Given the description of an element on the screen output the (x, y) to click on. 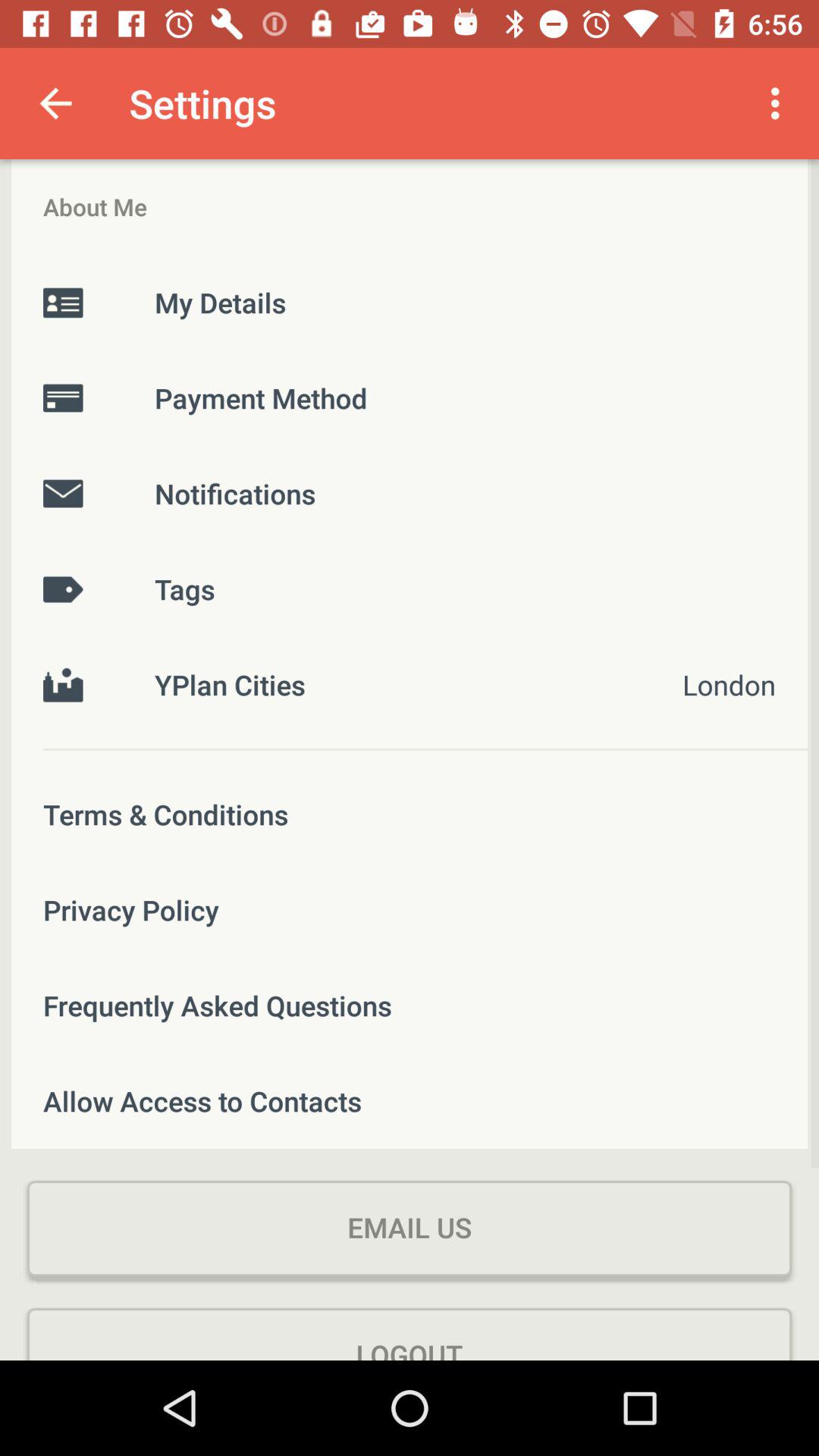
turn off item above about me item (55, 103)
